Given the description of an element on the screen output the (x, y) to click on. 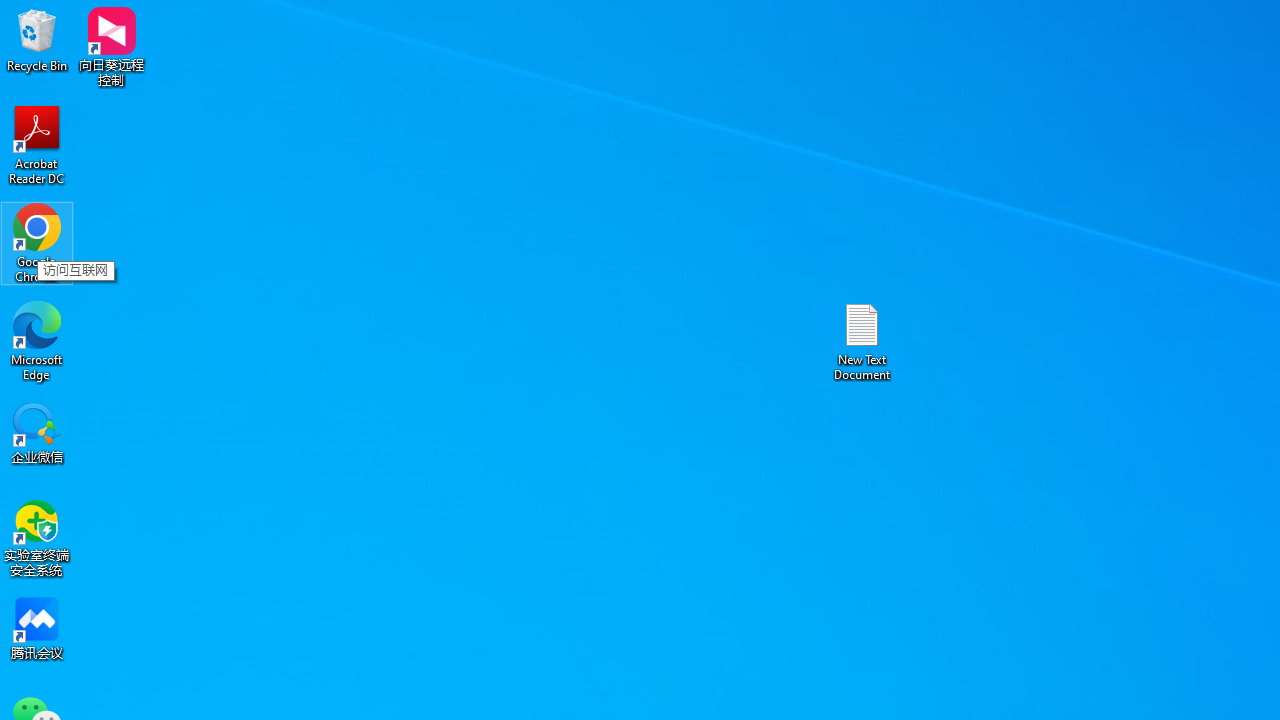
Acrobat Reader DC (37, 144)
New Text Document (861, 340)
Recycle Bin (37, 39)
Google Chrome (37, 242)
Microsoft Edge (37, 340)
